Given the description of an element on the screen output the (x, y) to click on. 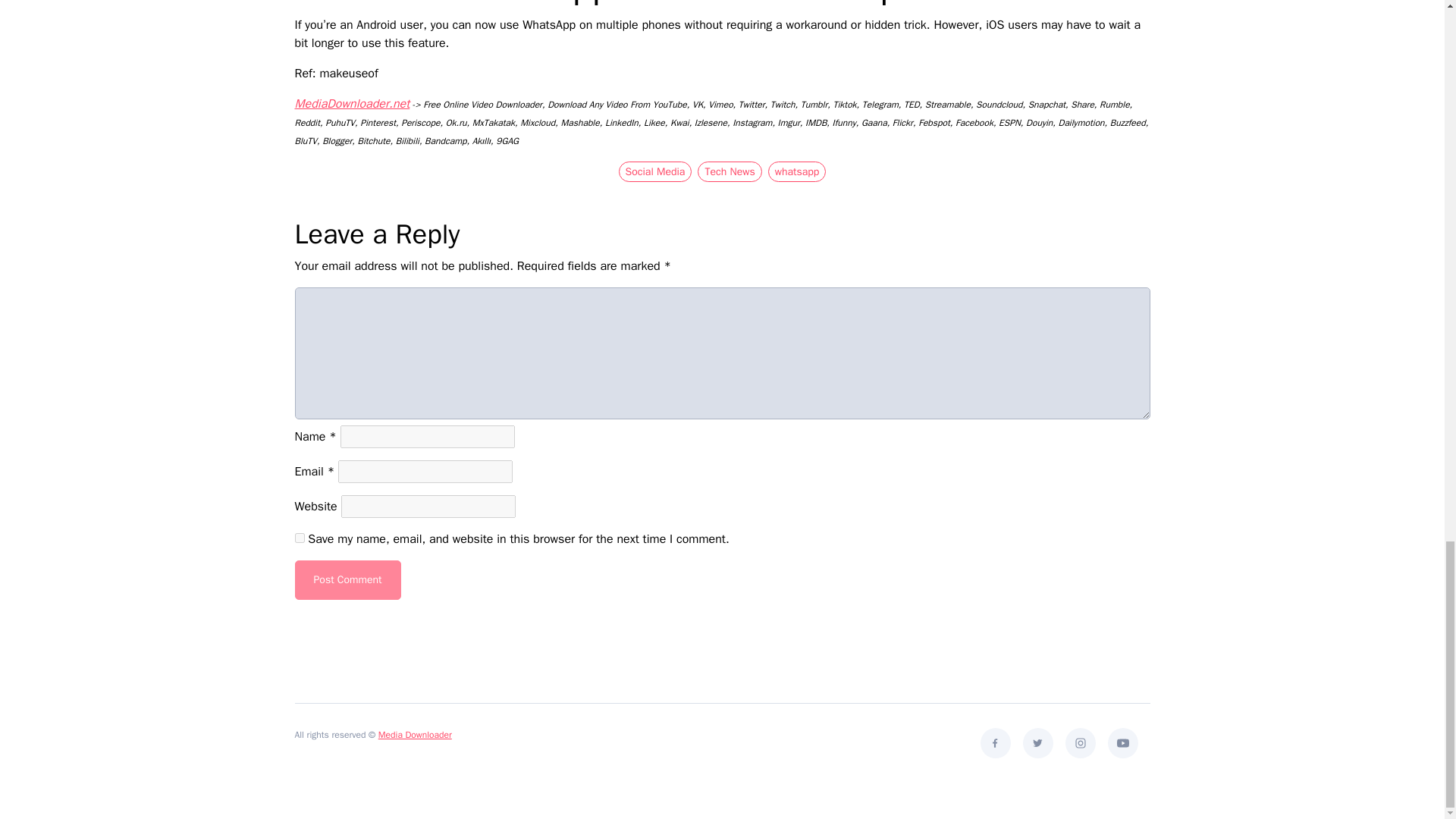
Social Media (655, 171)
MediaDownloader.net (351, 103)
yes (299, 537)
Post Comment (347, 579)
Post Comment (347, 579)
Media Downloader (414, 734)
whatsapp (797, 171)
Tech News (729, 171)
